Given the description of an element on the screen output the (x, y) to click on. 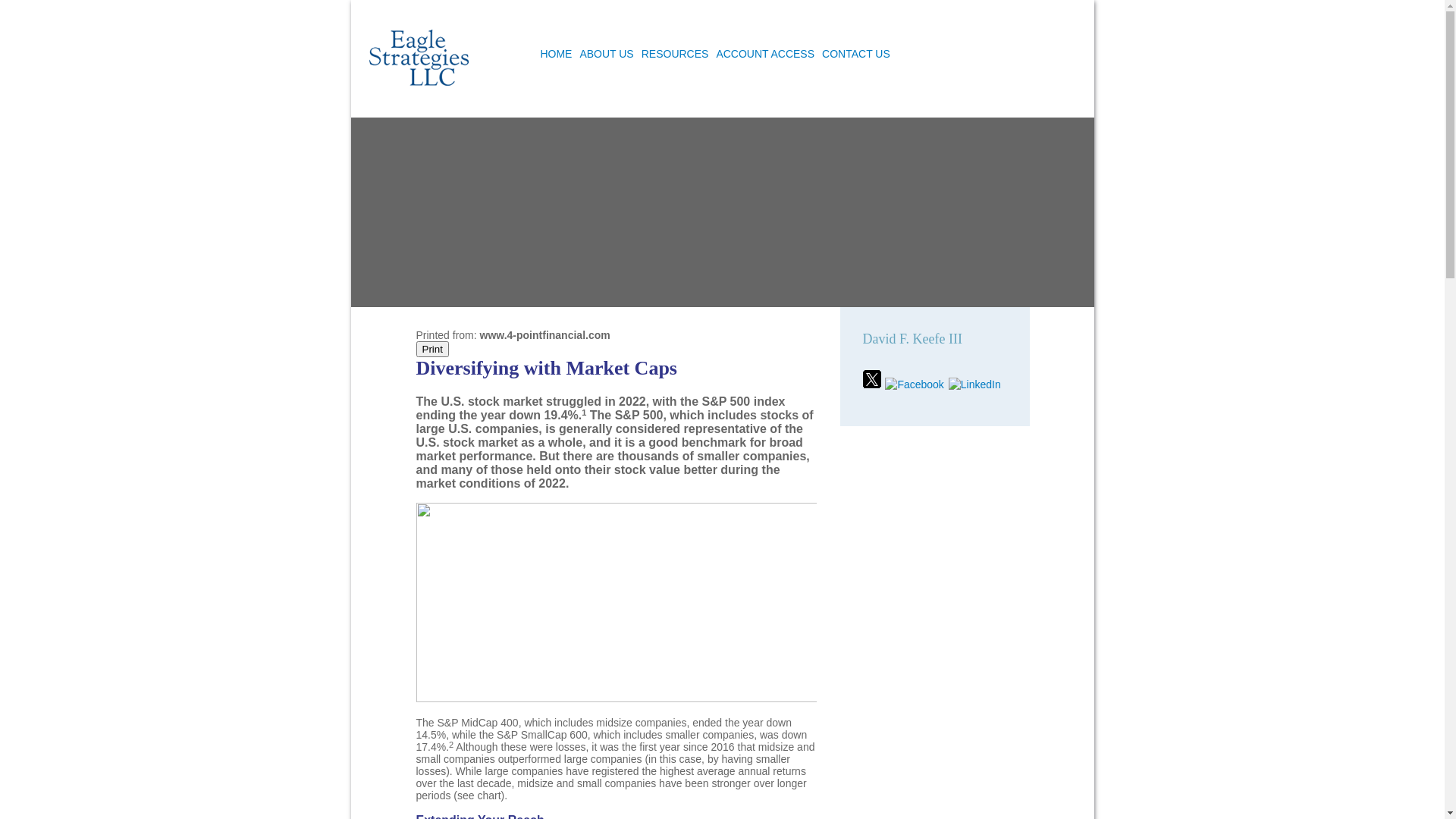
ACCOUNT ACCESS Element type: text (764, 58)
Facebook Element type: hover (915, 384)
LinkedIn Element type: hover (975, 384)
HOME Element type: text (555, 58)
Print Element type: text (431, 349)
Twitter Element type: hover (873, 384)
Home Element type: hover (418, 57)
CONTACT US Element type: text (856, 58)
RESOURCES Element type: text (675, 58)
ABOUT US Element type: text (606, 58)
